Given the description of an element on the screen output the (x, y) to click on. 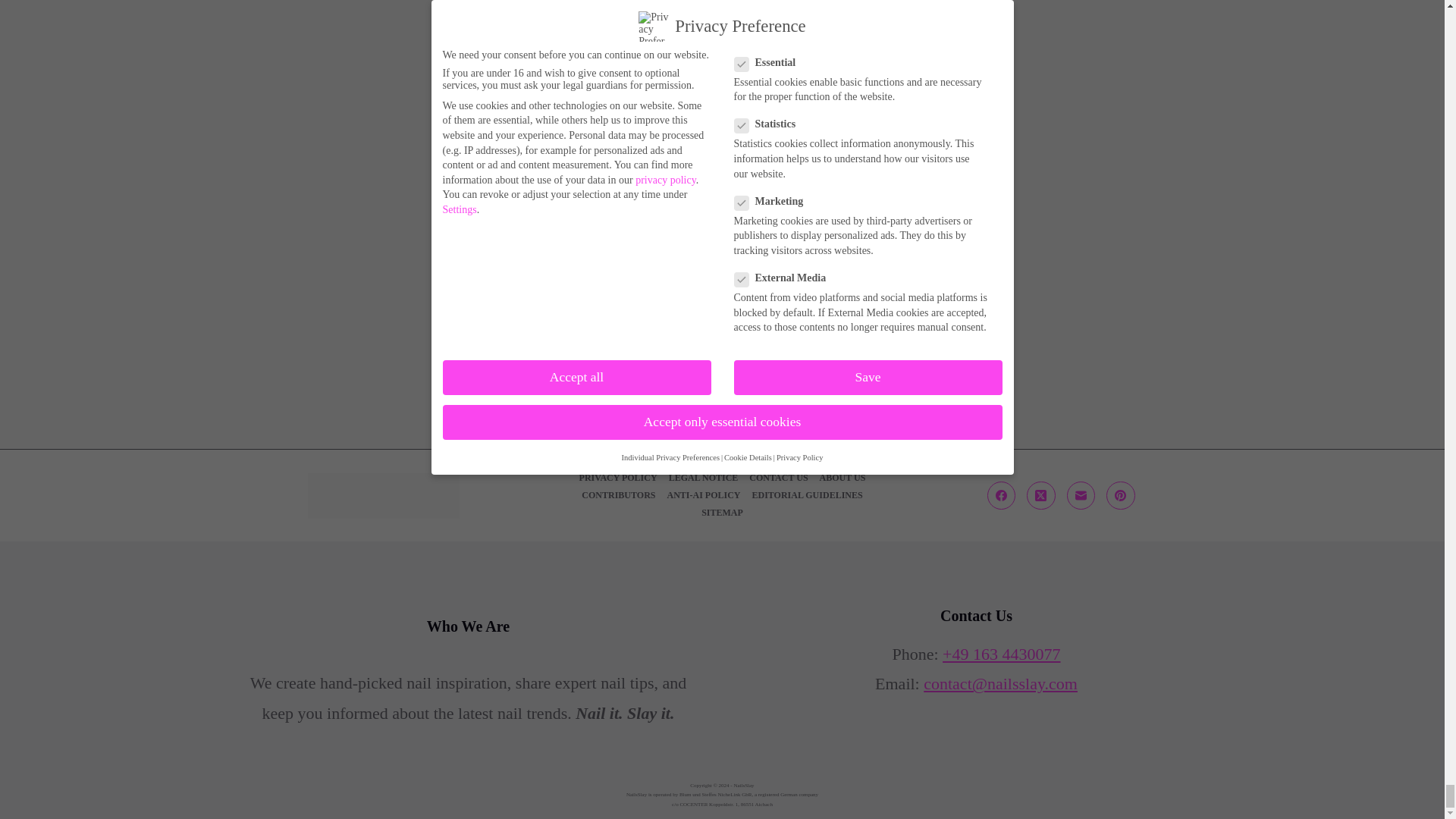
yes (443, 302)
